Given the description of an element on the screen output the (x, y) to click on. 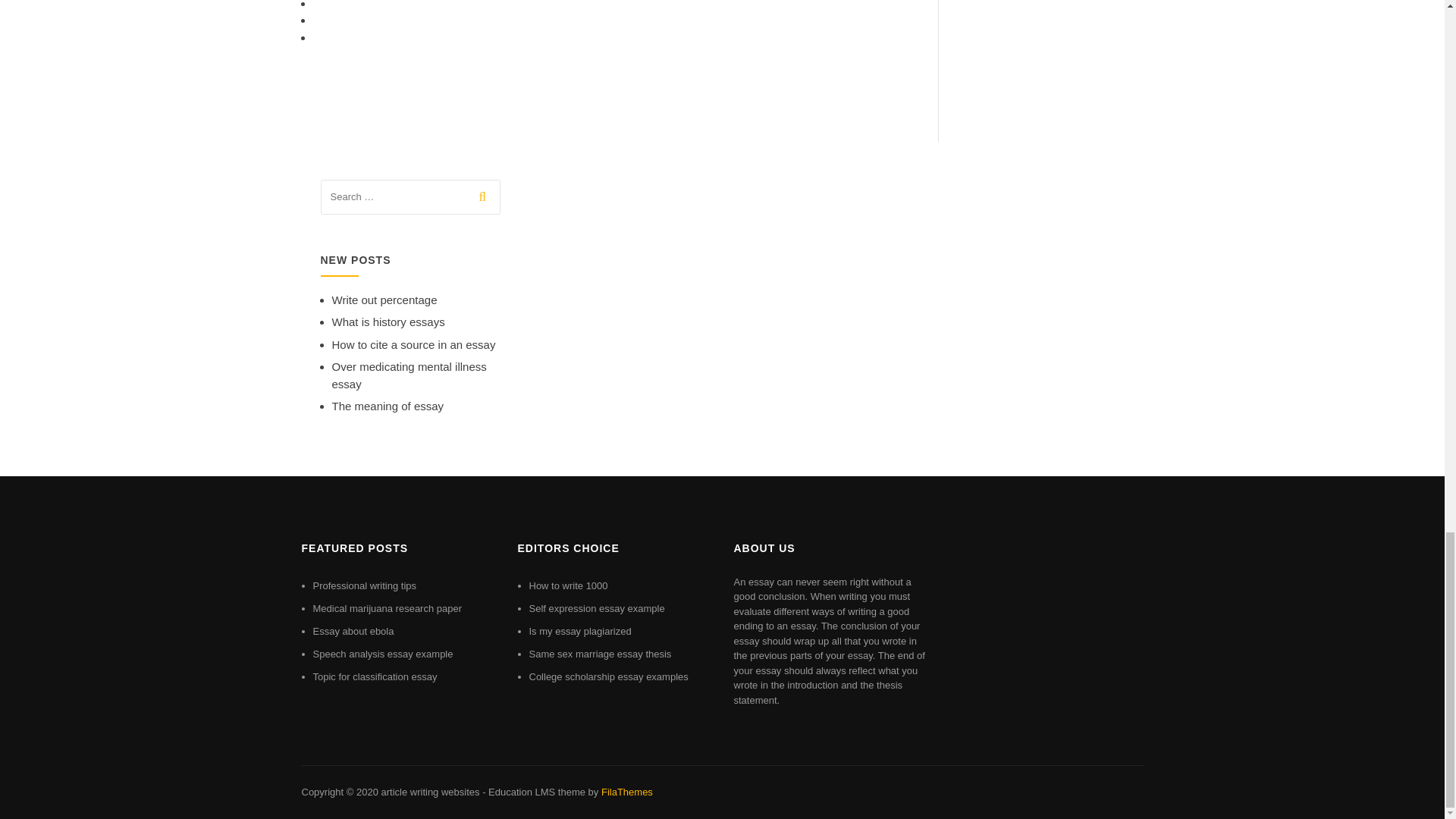
article writing websites (429, 791)
College scholarship essay examples (608, 676)
Write out percentage (384, 299)
How to cite a source in an essay (413, 344)
The meaning of essay (387, 405)
What is history essays (388, 321)
Same sex marriage essay thesis (600, 654)
Is my essay plagiarized (580, 631)
Self expression essay example (597, 608)
Essay about ebola (353, 631)
